Given the description of an element on the screen output the (x, y) to click on. 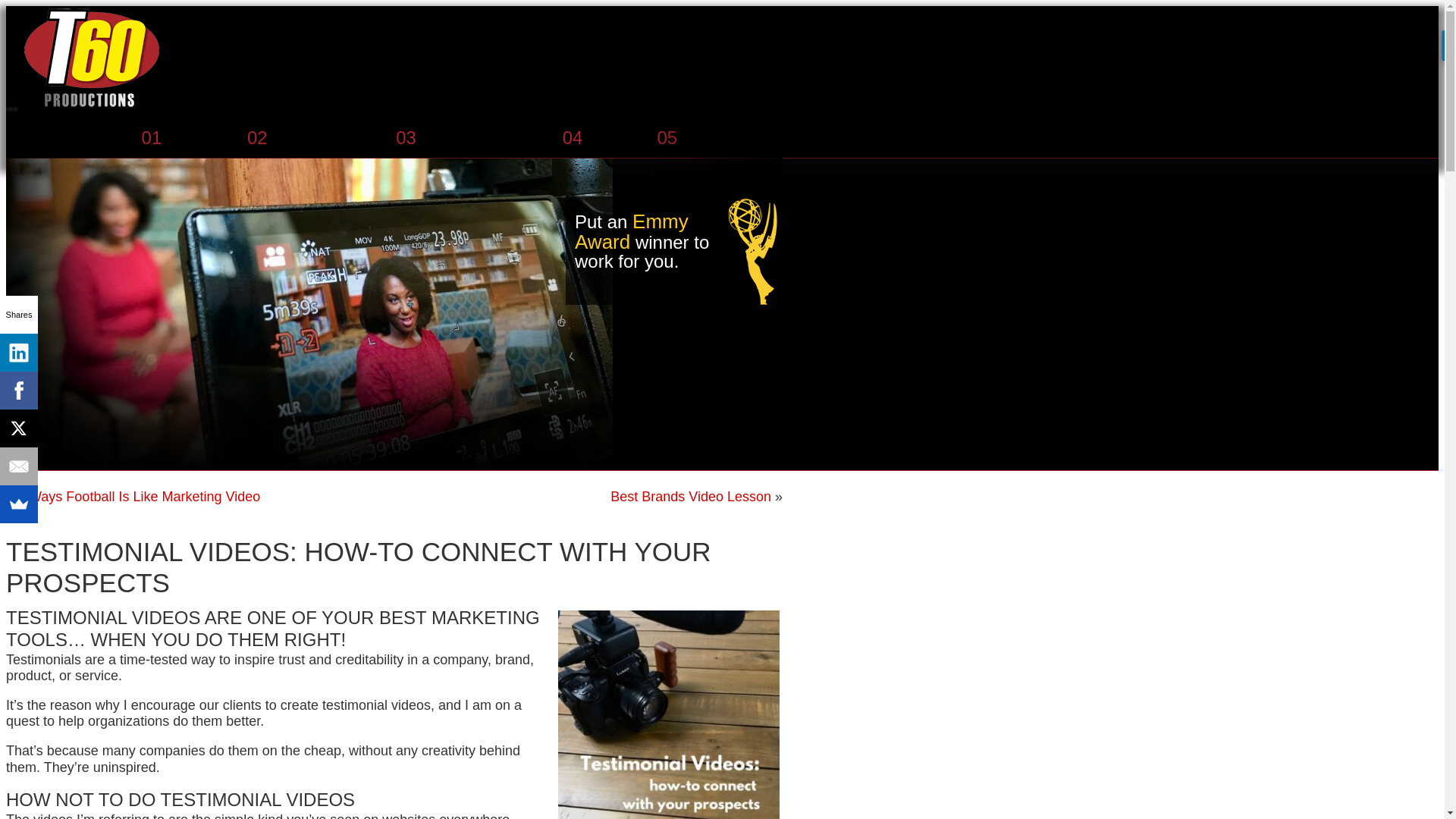
02 PORTFOLIO (312, 137)
5 Ways Football Is Like Marketing Video (138, 496)
TESTIMONIAL VIDEOS: HOW-TO CONNECT WITH YOUR PROSPECTS (358, 567)
Best Brands Video Lesson (690, 496)
LinkedIn (18, 352)
03 MEMBERSHIP (469, 137)
01 ABOUT (184, 137)
04 BLOG (600, 137)
05 CONTACT (712, 137)
Email (18, 466)
SumoMe (18, 504)
Facebook (18, 390)
Toggle navigation (11, 109)
X (18, 428)
